Given the description of an element on the screen output the (x, y) to click on. 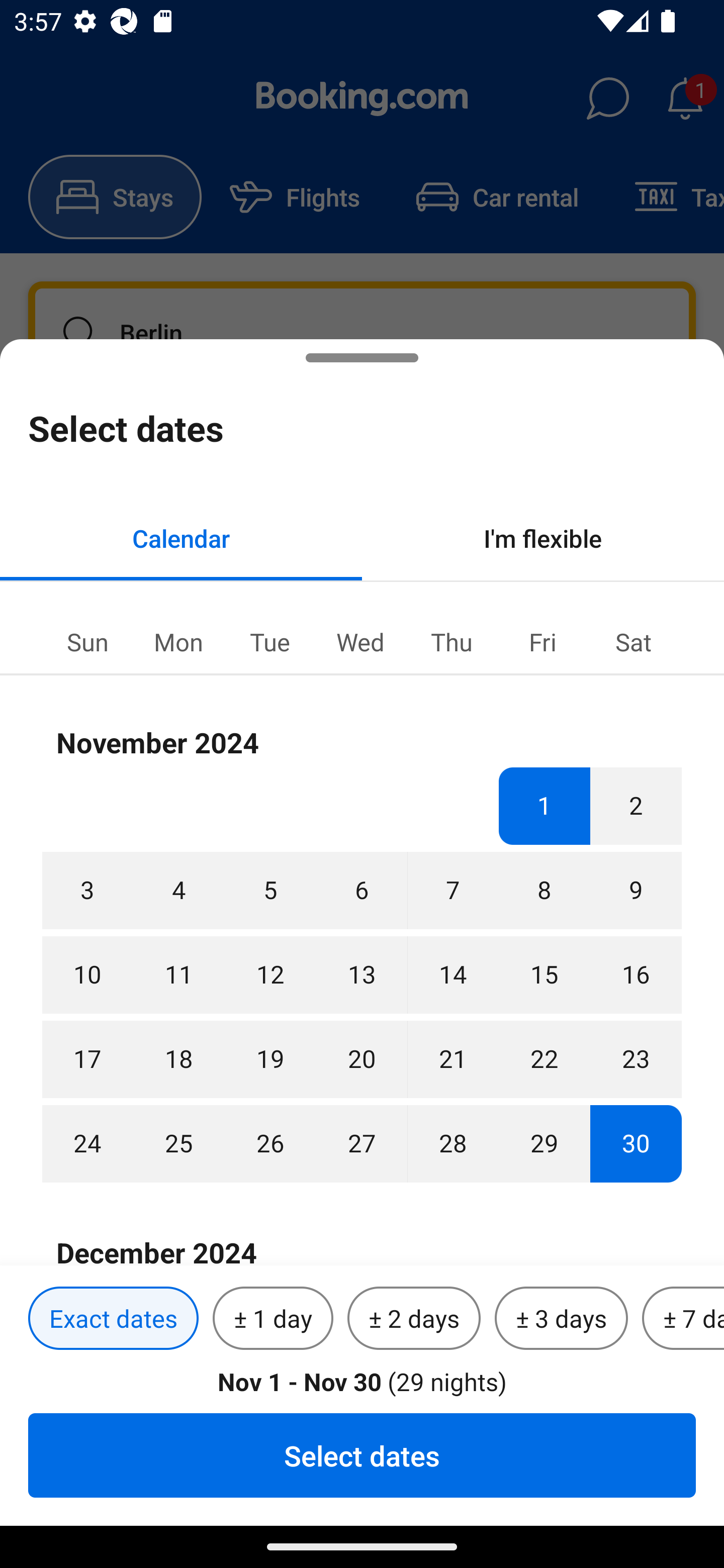
I'm flexible (543, 537)
Exact dates (113, 1318)
± 1 day (272, 1318)
± 2 days (413, 1318)
± 3 days (560, 1318)
± 7 days (683, 1318)
Select dates (361, 1454)
